Given the description of an element on the screen output the (x, y) to click on. 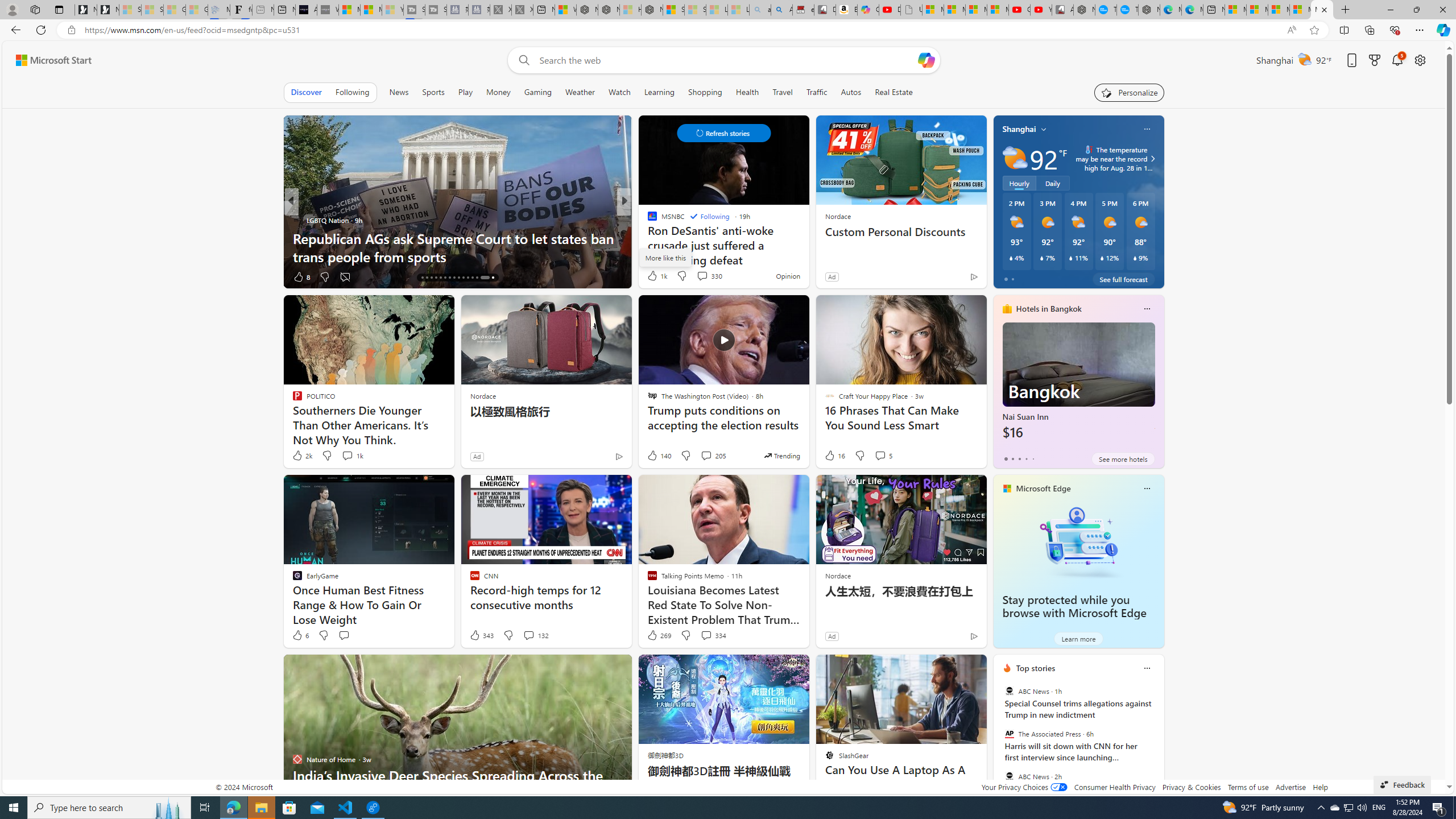
This story is trending (781, 455)
Shopping (705, 92)
AutomationID: tab-16 (422, 277)
AutomationID: tab-30 (489, 277)
2k Like (301, 455)
Consumer Health Privacy (1115, 786)
